Given the description of an element on the screen output the (x, y) to click on. 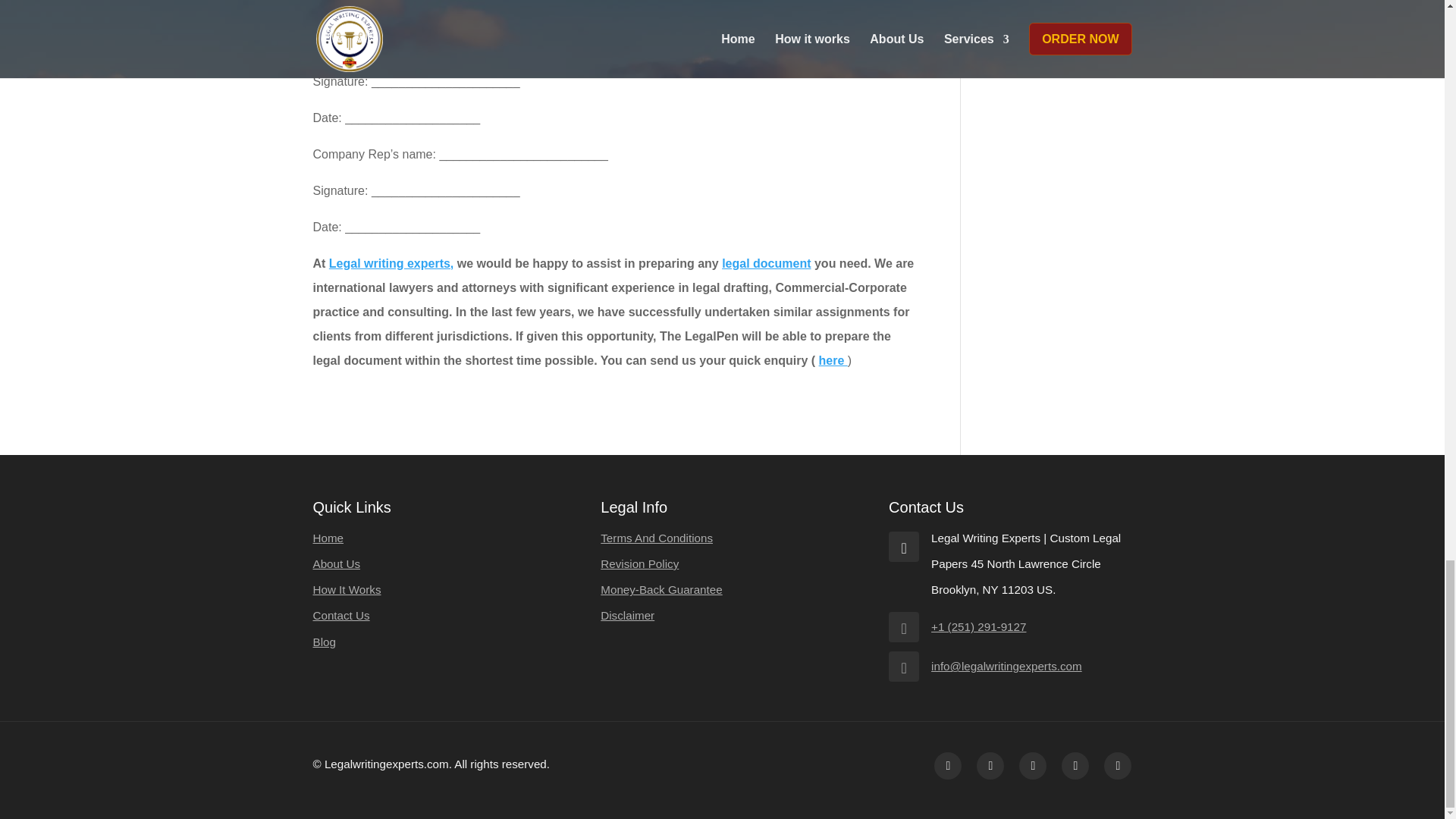
Disclaimer (626, 615)
Home (328, 537)
Money-Back Guarantee (660, 589)
here  (832, 359)
legal document (766, 263)
Contact Us (341, 615)
Terms And Conditions (656, 537)
Legal writing experts, (390, 263)
How It Works (346, 589)
Revision Policy (638, 563)
Blog (323, 641)
About Us (336, 563)
